Given the description of an element on the screen output the (x, y) to click on. 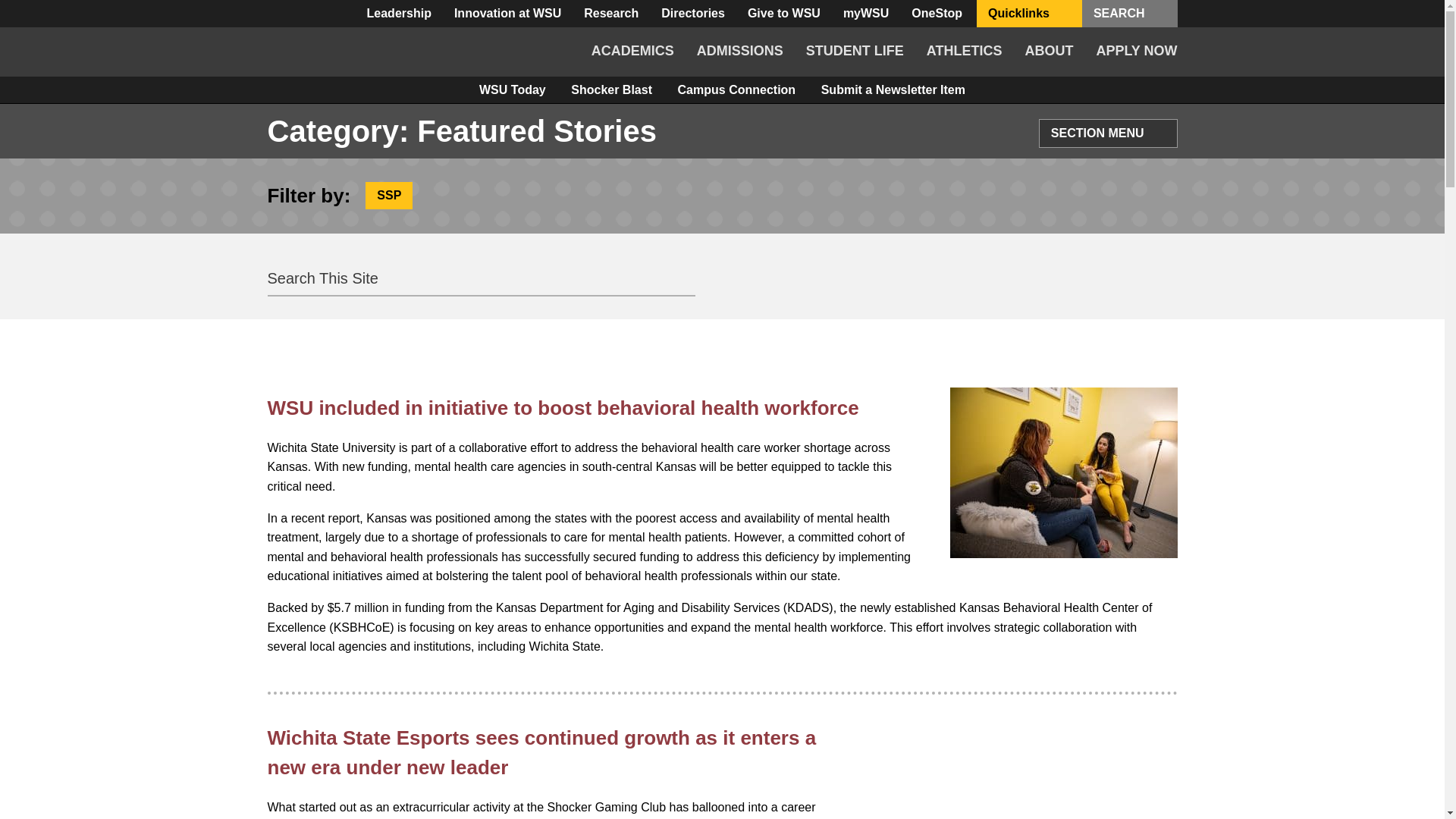
Give to WSU (783, 13)
Leadership (398, 13)
Directories (692, 13)
Open Quicklinks (1063, 13)
Research (610, 13)
Innovation at WSU (507, 13)
Open Search (1159, 13)
Quicklinks (1028, 13)
OneStop (936, 13)
myWSU (865, 13)
